Given the description of an element on the screen output the (x, y) to click on. 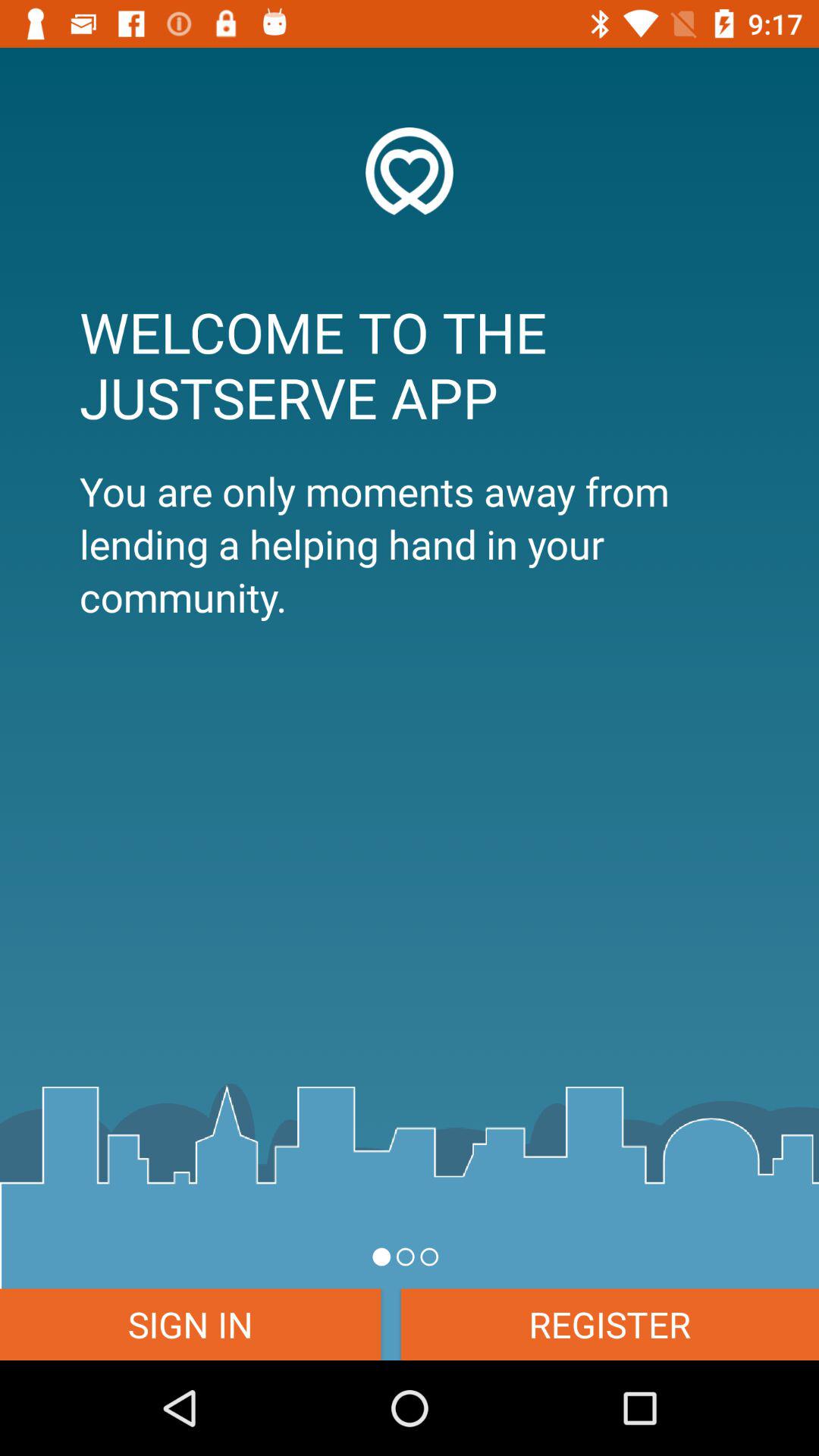
select the icon at the bottom left corner (190, 1324)
